Given the description of an element on the screen output the (x, y) to click on. 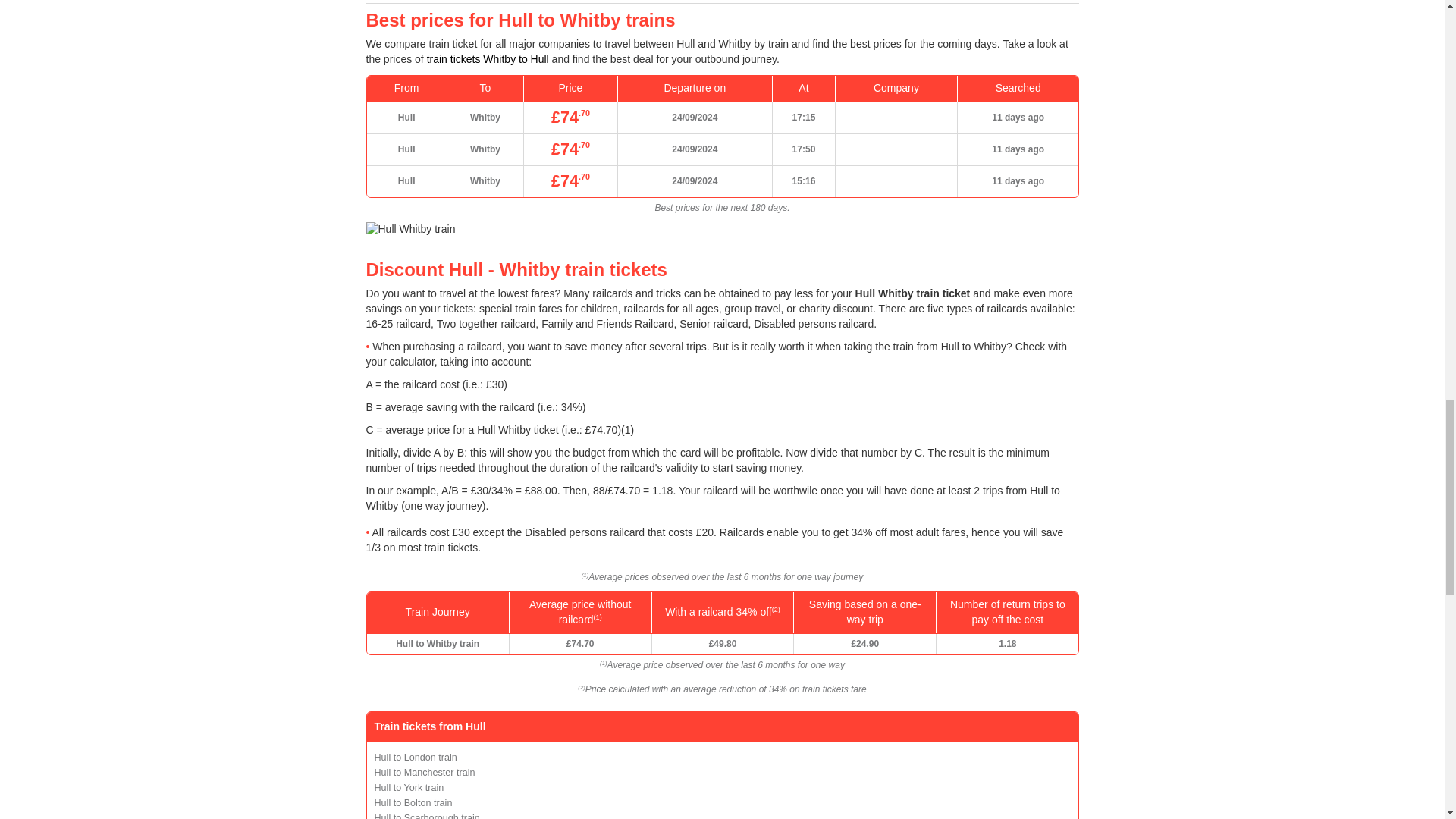
Hull to York train (409, 787)
Hull to Scarborough train (427, 816)
train tickets Whitby to Hull (487, 59)
Hull to London train (415, 757)
Hull to Bolton train (413, 802)
Hull to Manchester train (425, 772)
